Given the description of an element on the screen output the (x, y) to click on. 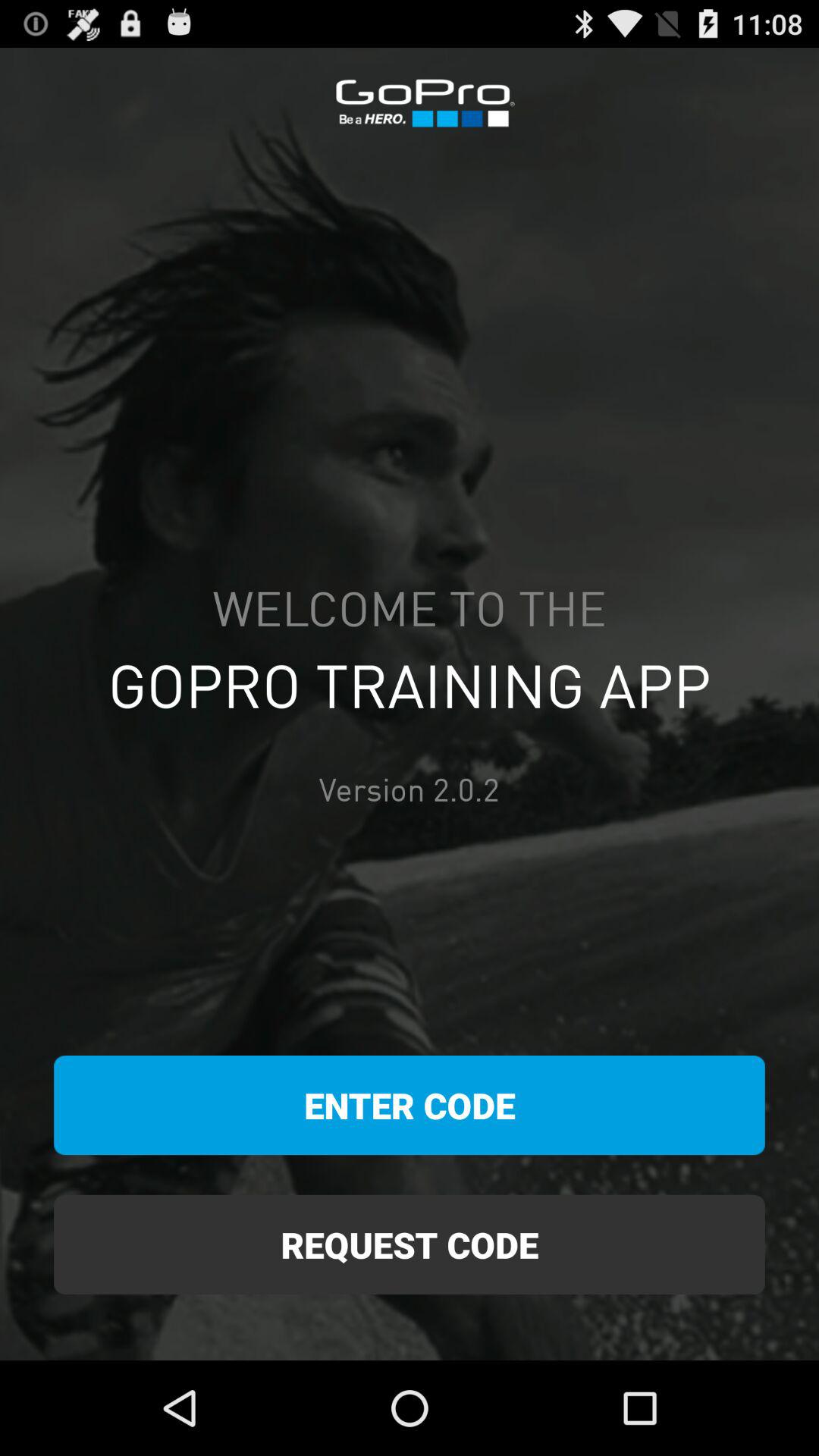
turn off icon below enter code button (409, 1244)
